Given the description of an element on the screen output the (x, y) to click on. 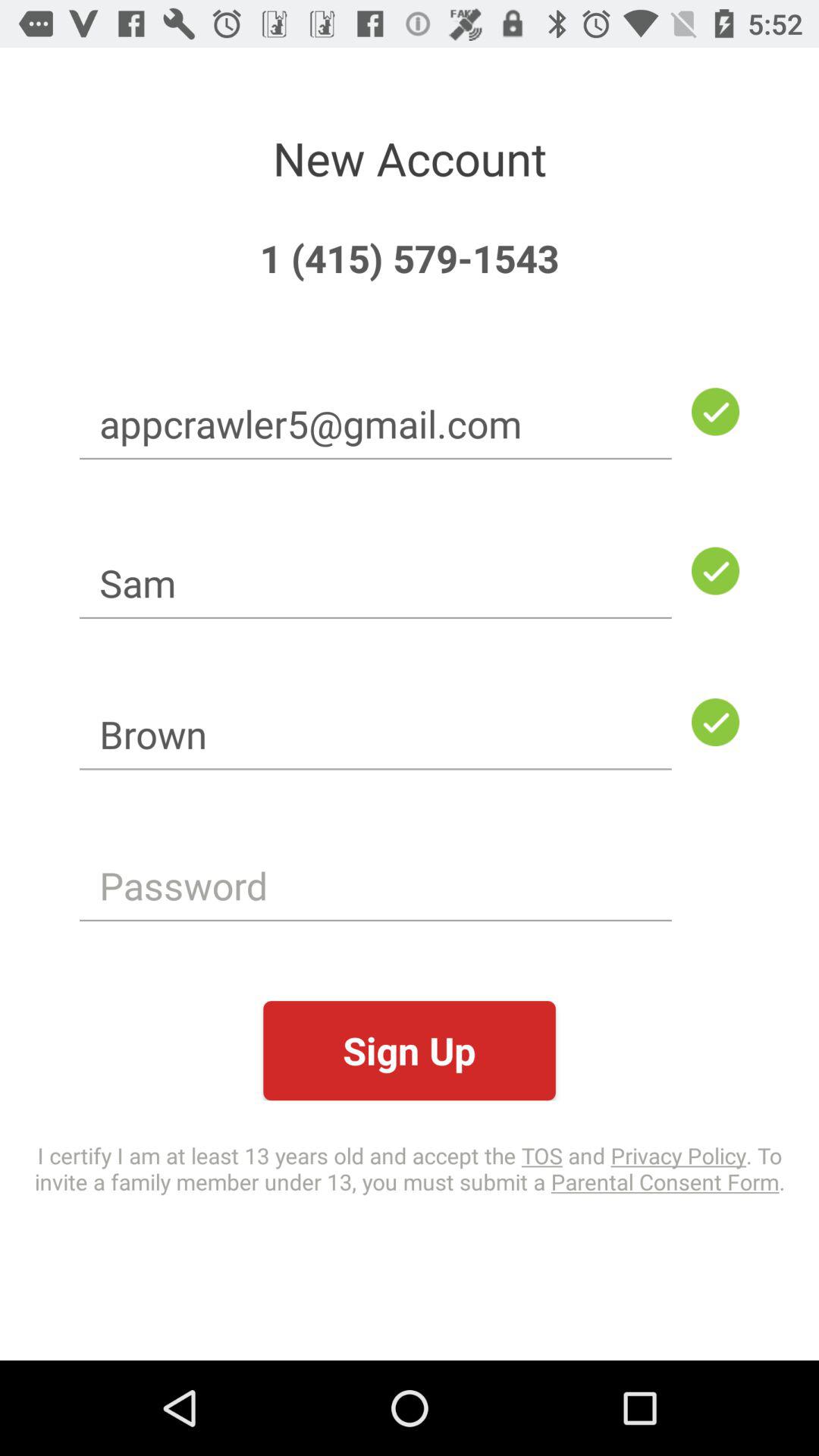
select the item above i certify i icon (409, 1050)
